Given the description of an element on the screen output the (x, y) to click on. 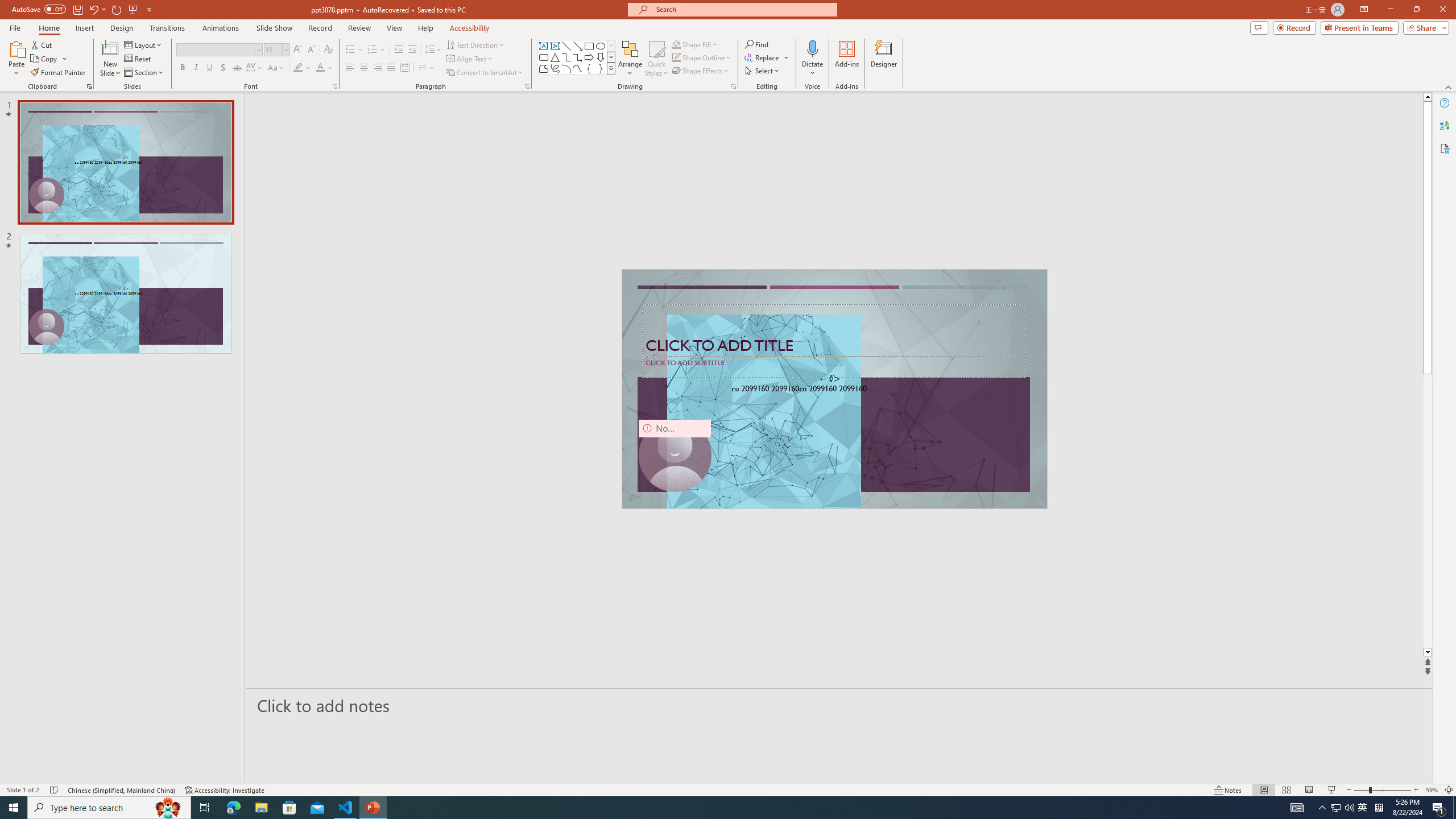
Quick Styles (656, 58)
Connector: Elbow (566, 57)
Line Spacing (433, 49)
Arrow: Right (589, 57)
Rectangle: Rounded Corners (543, 57)
Vertical Text Box (554, 45)
